Given the description of an element on the screen output the (x, y) to click on. 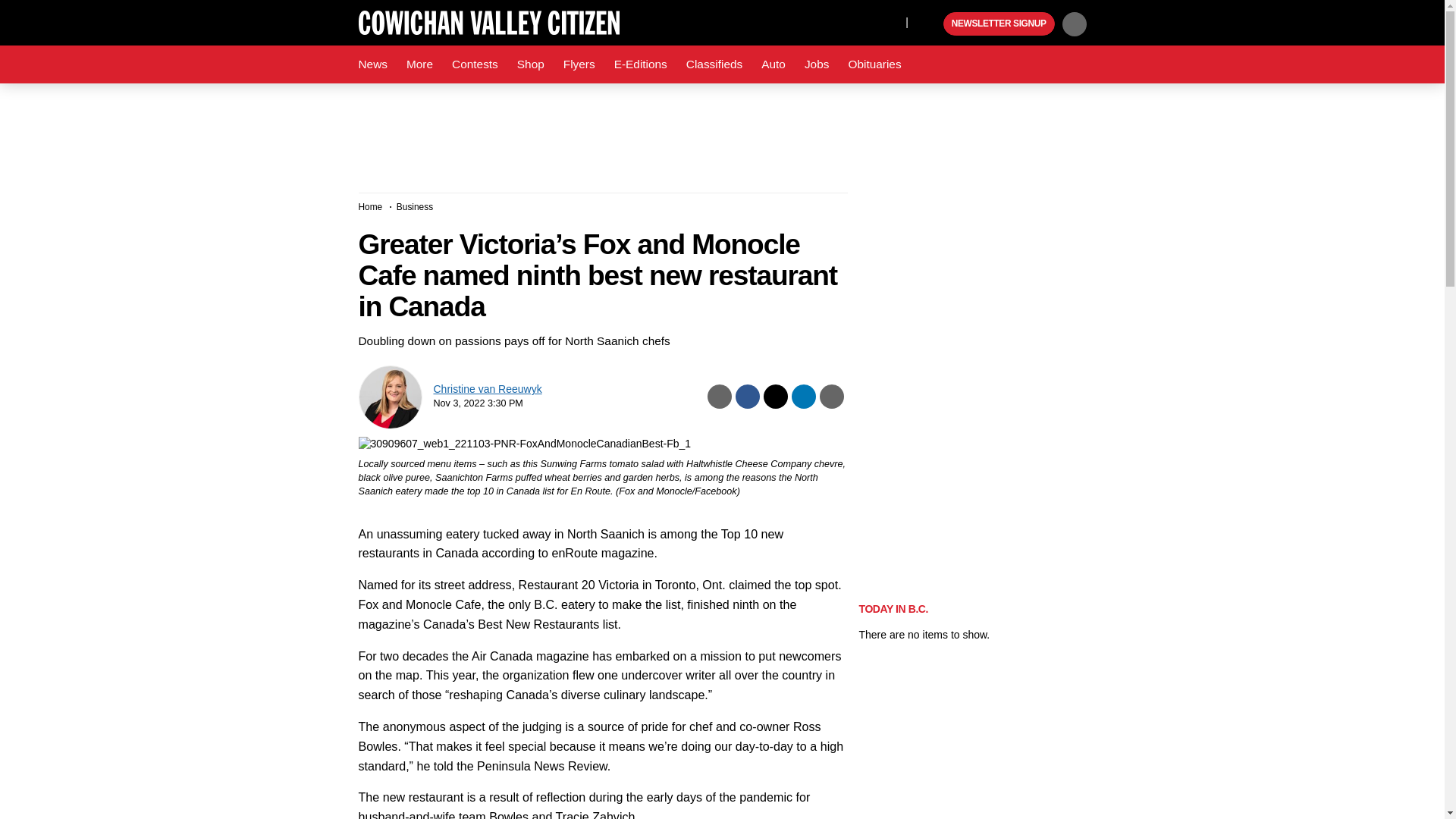
NEWSLETTER SIGNUP (998, 24)
Play (929, 24)
X (889, 21)
News (372, 64)
Black Press Media (929, 24)
